Given the description of an element on the screen output the (x, y) to click on. 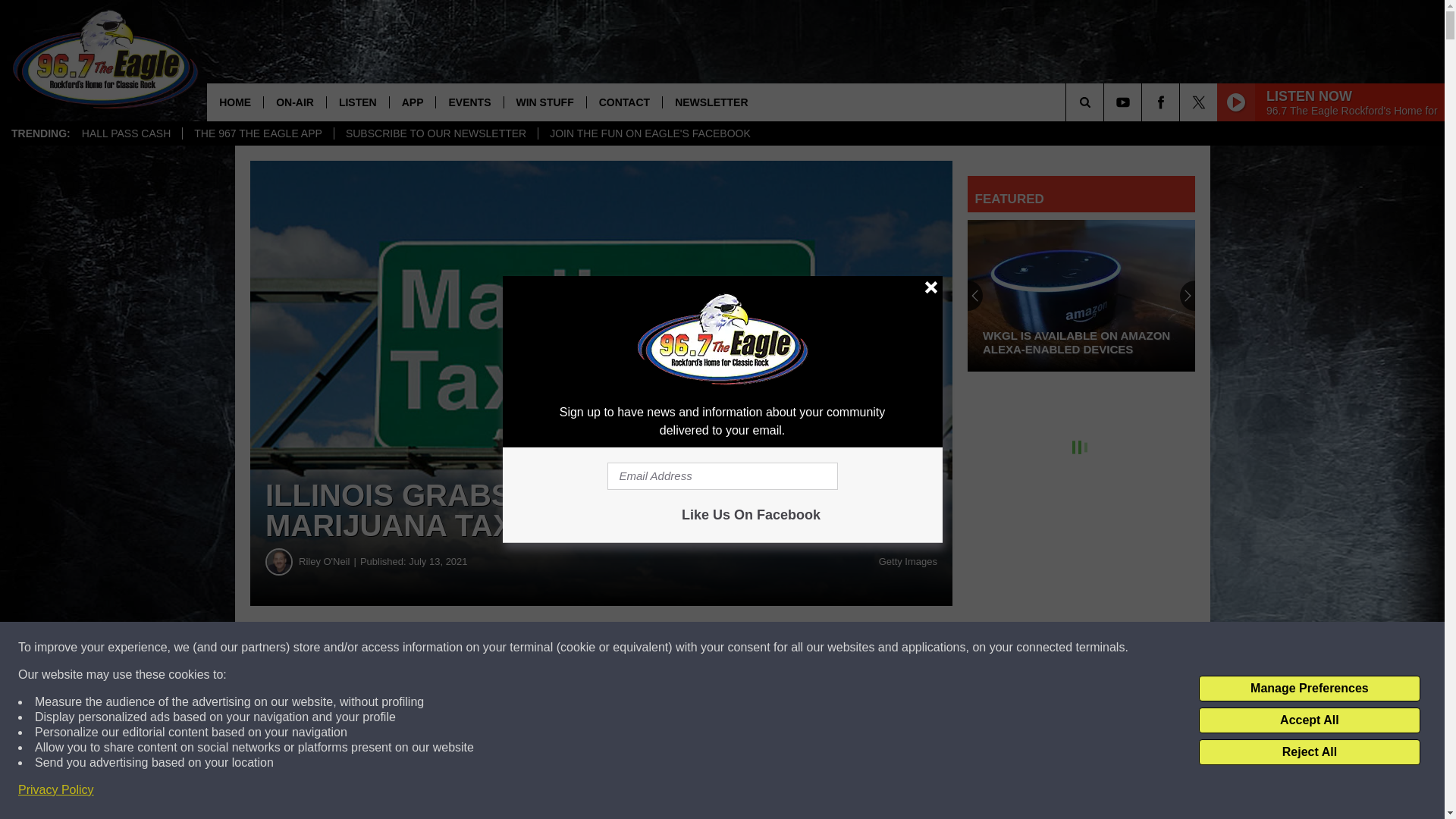
EVENTS (468, 102)
ON-AIR (294, 102)
HALL PASS CASH (126, 133)
SUBSCRIBE TO OUR NEWSLETTER (435, 133)
LISTEN (357, 102)
THE 967 THE EAGLE APP (257, 133)
Share on Facebook (460, 647)
Manage Preferences (1309, 688)
Share on Twitter (741, 647)
Accept All (1309, 720)
JOIN THE FUN ON EAGLE'S FACEBOOK (649, 133)
CONTACT (624, 102)
SEARCH (1106, 102)
Email Address (722, 475)
NEWSLETTER (711, 102)
